Given the description of an element on the screen output the (x, y) to click on. 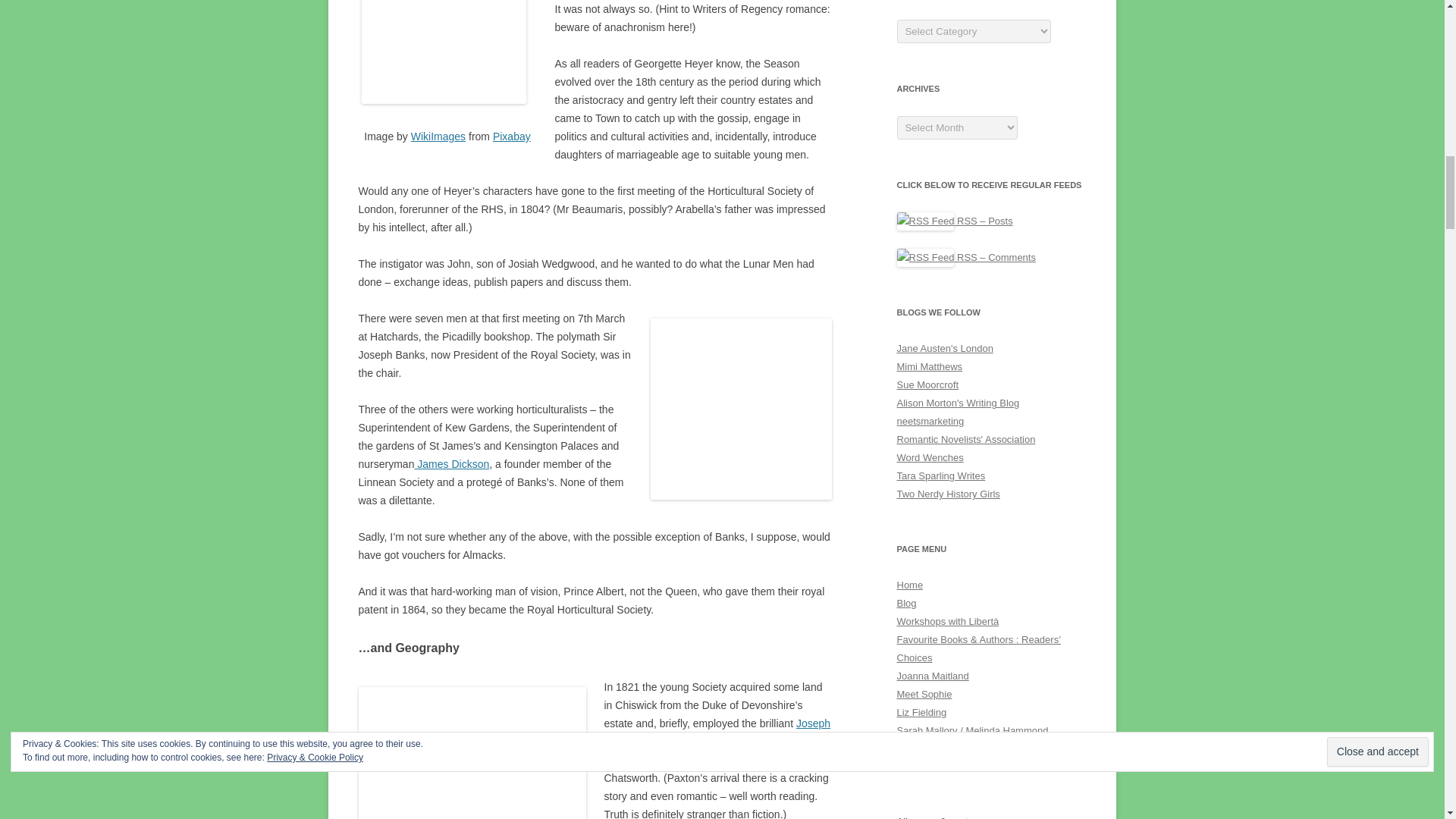
WikiImages (437, 136)
Joseph Paxton (716, 732)
Pixabay (512, 136)
James Dickson (451, 463)
